Given the description of an element on the screen output the (x, y) to click on. 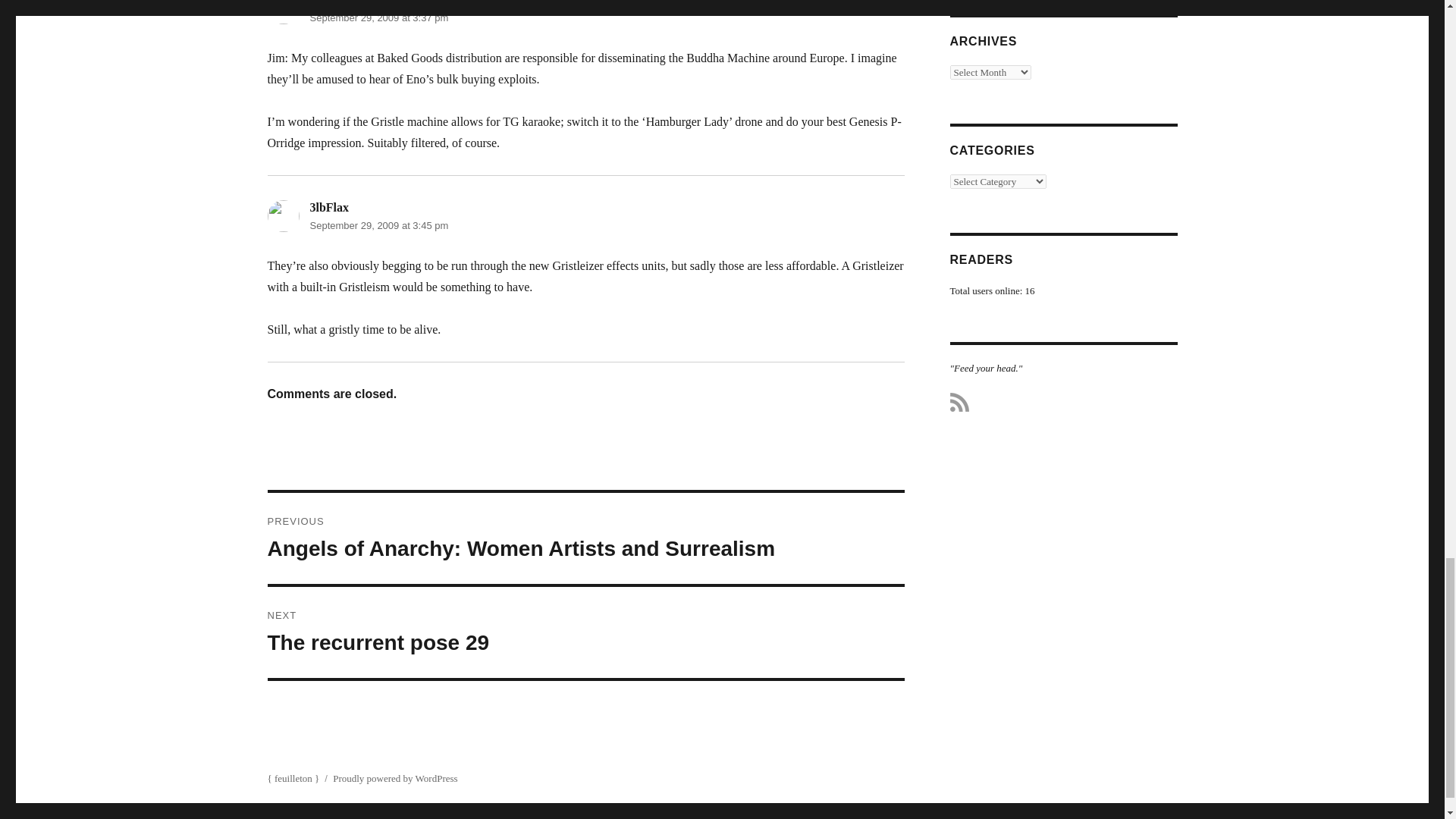
September 29, 2009 at 3:37 pm (378, 17)
September 29, 2009 at 3:45 pm (585, 632)
